Given the description of an element on the screen output the (x, y) to click on. 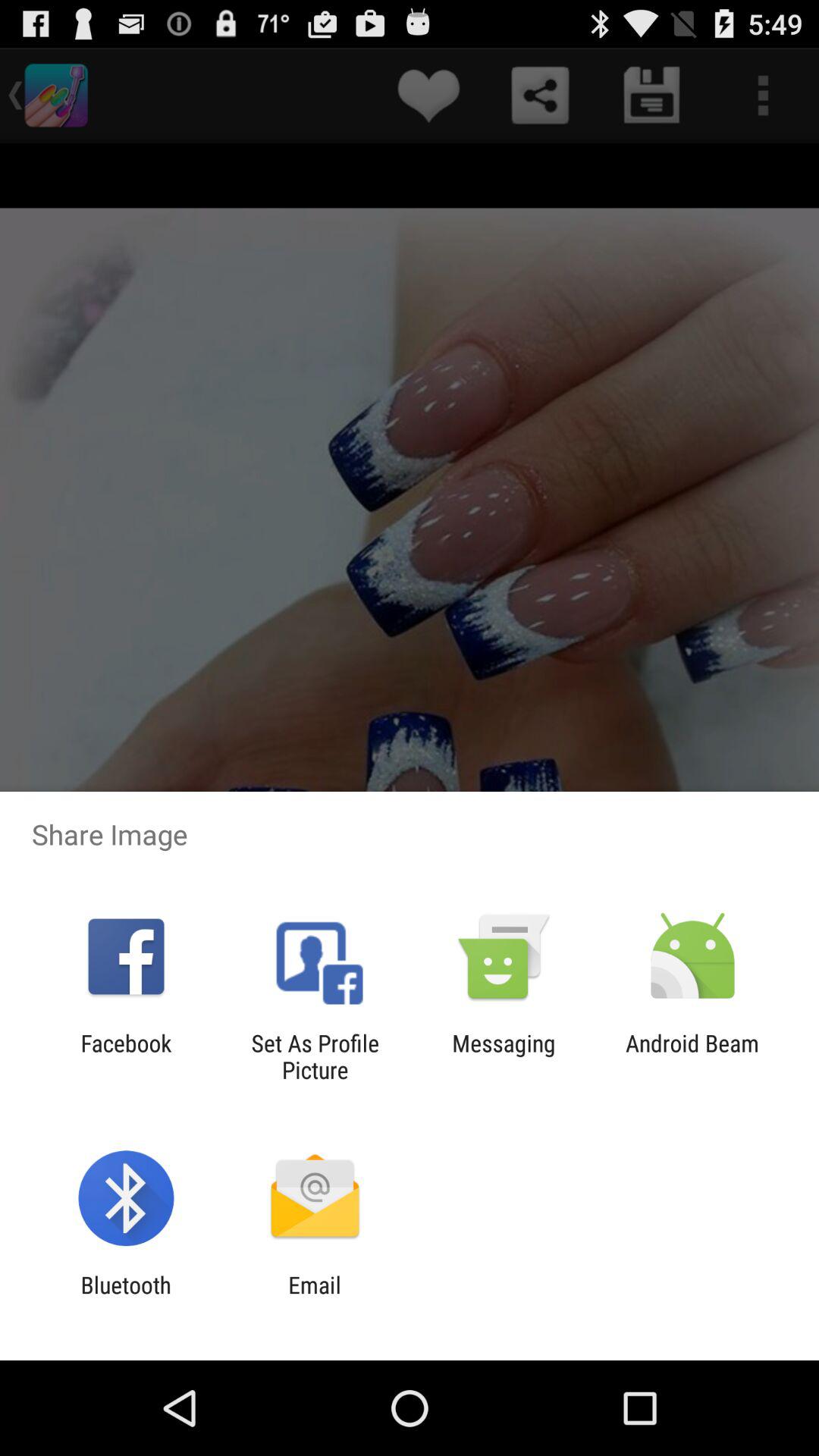
turn off app to the left of set as profile (125, 1056)
